Given the description of an element on the screen output the (x, y) to click on. 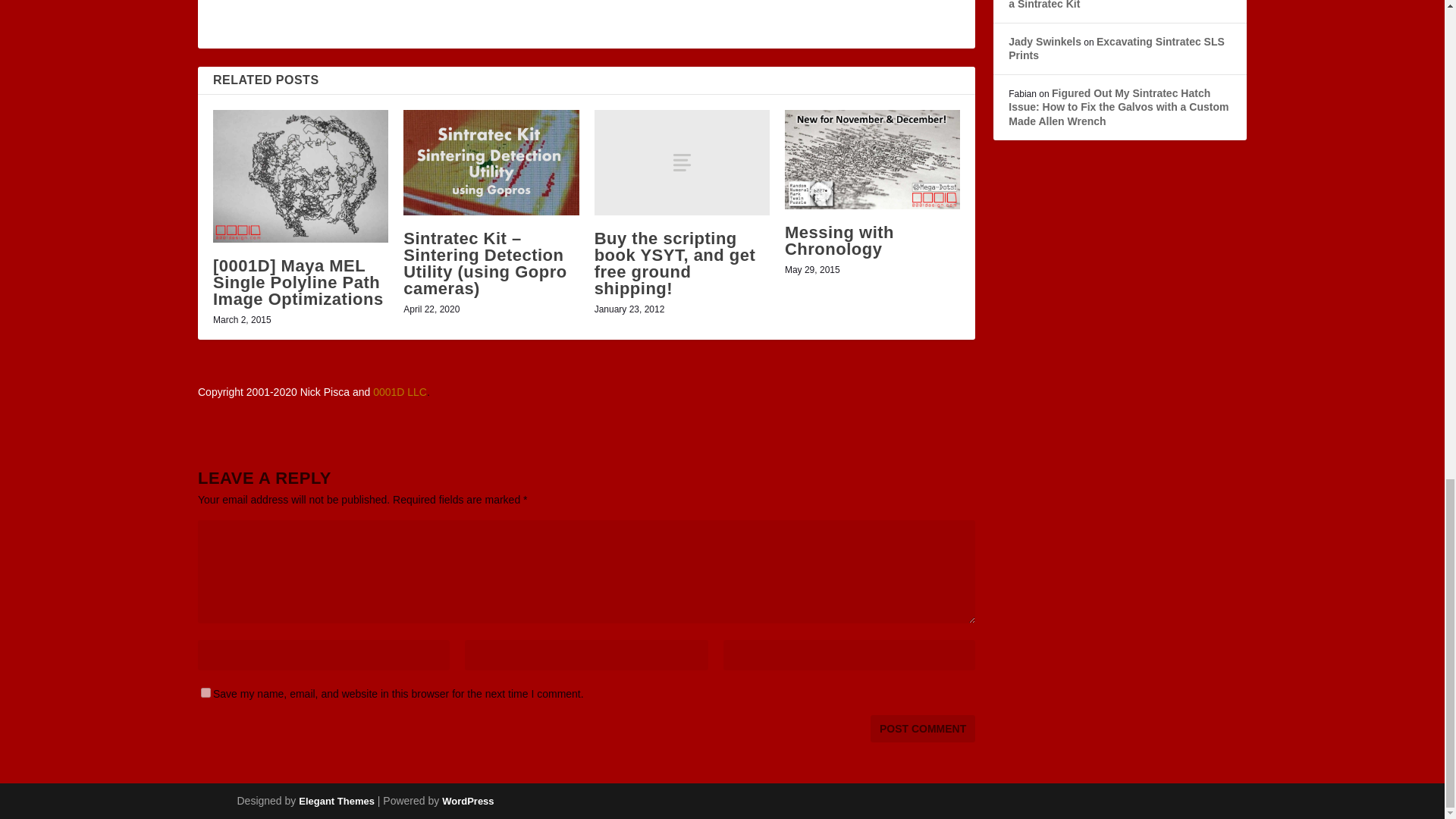
Post Comment (922, 728)
yes (205, 692)
